Given the description of an element on the screen output the (x, y) to click on. 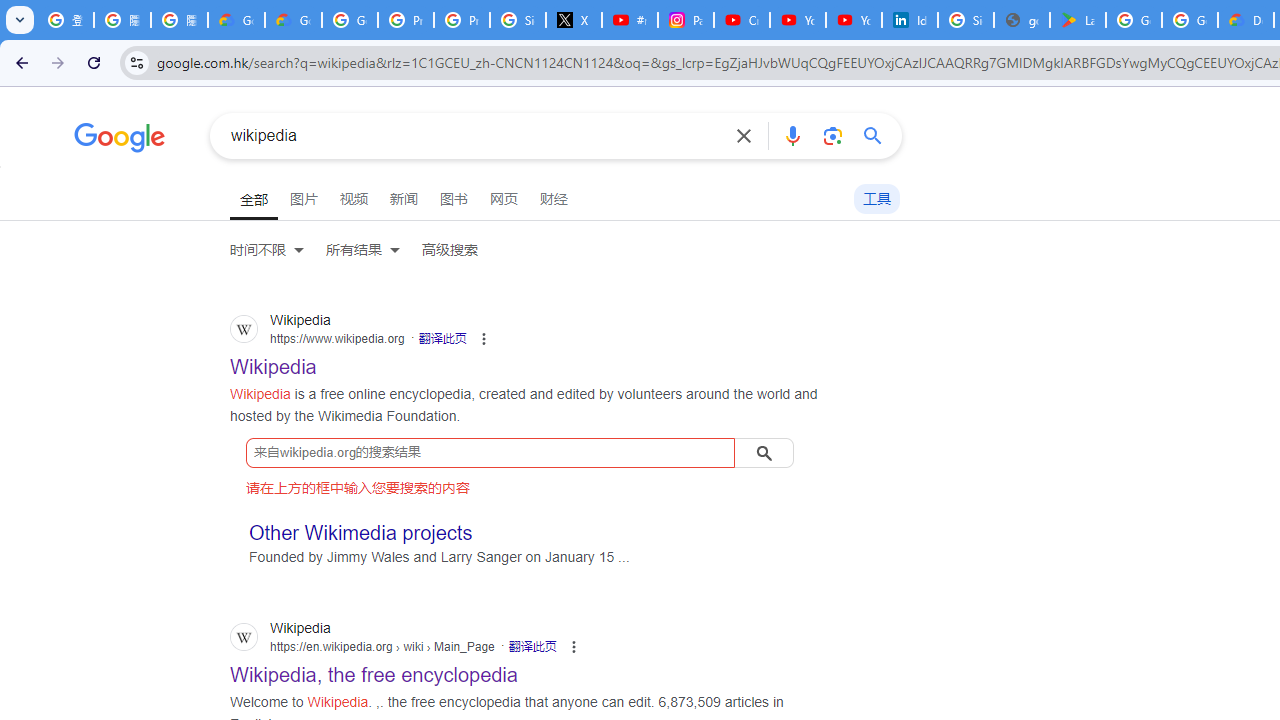
 Wikipedia Wikipedia https://www.wikipedia.org (273, 361)
